Given the description of an element on the screen output the (x, y) to click on. 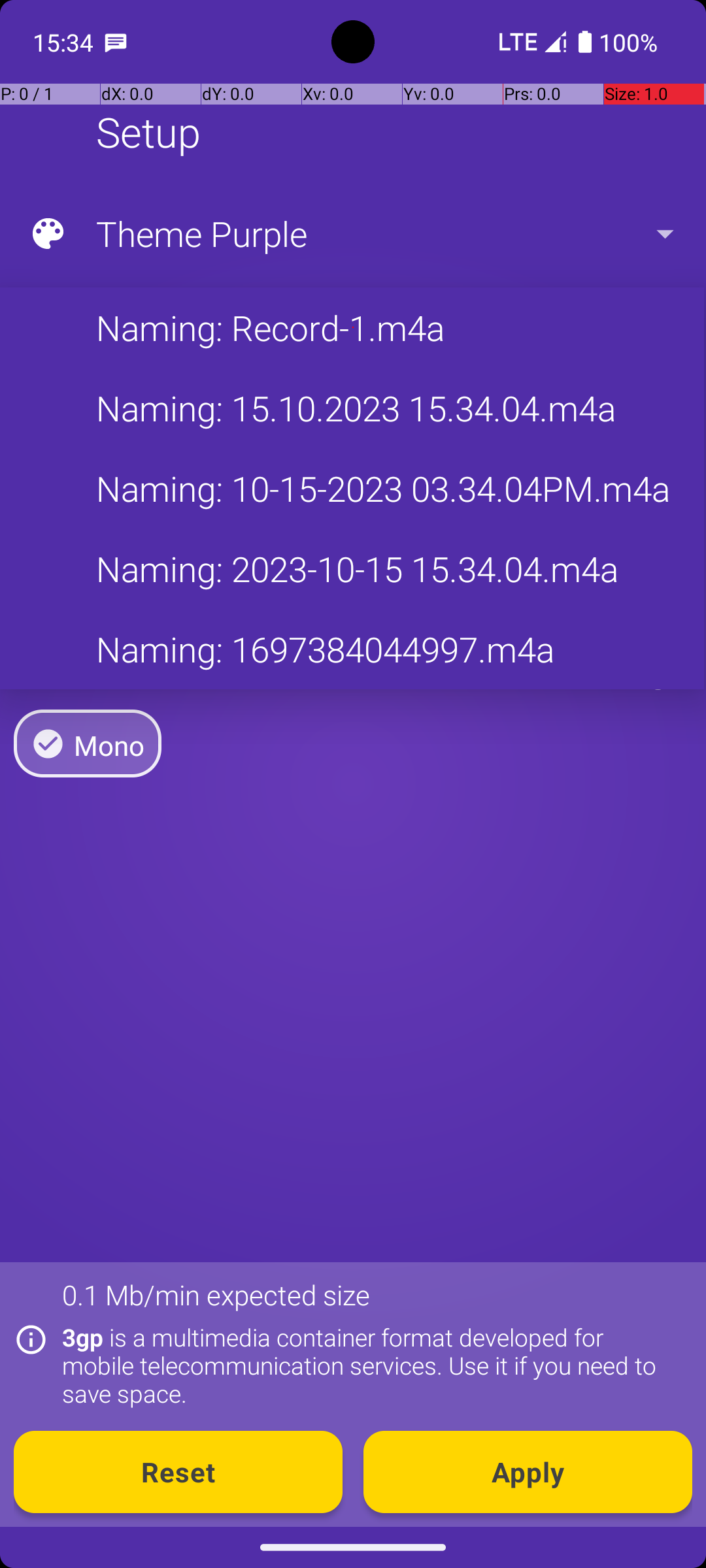
Naming: 15.10.2023 15.34.04.m4a Element type: android.widget.TextView (352, 407)
Naming: 10-15-2023 03.34.04PM.m4a Element type: android.widget.TextView (352, 488)
Naming: 2023-10-15 15.34.04.m4a Element type: android.widget.TextView (352, 568)
Naming: 1697384044997.m4a Element type: android.widget.TextView (352, 648)
